Given the description of an element on the screen output the (x, y) to click on. 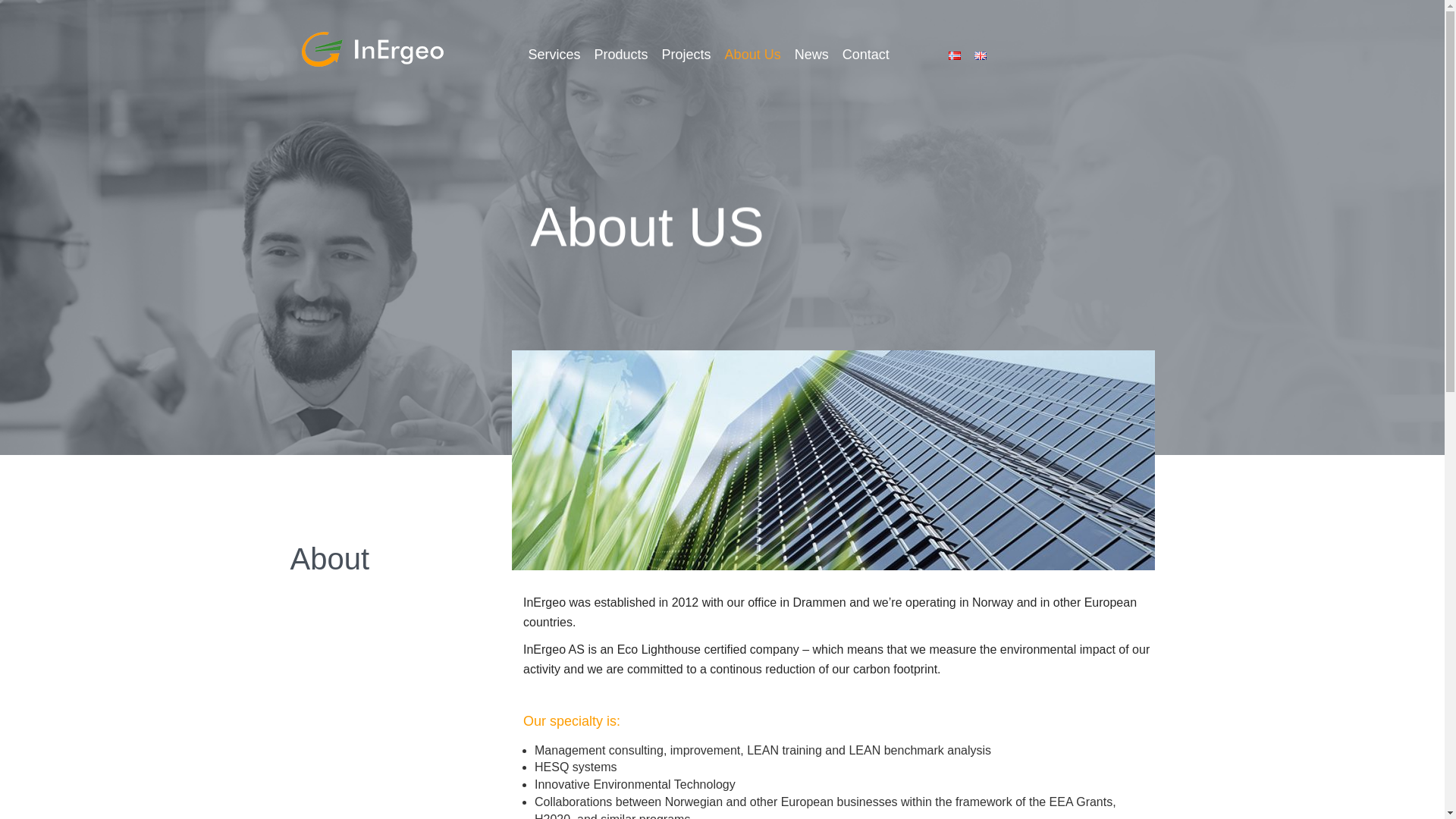
News (811, 55)
Services (553, 55)
Contact (866, 55)
N (954, 55)
EN (980, 55)
About Us (752, 55)
Projects (686, 55)
Products (620, 55)
